Given the description of an element on the screen output the (x, y) to click on. 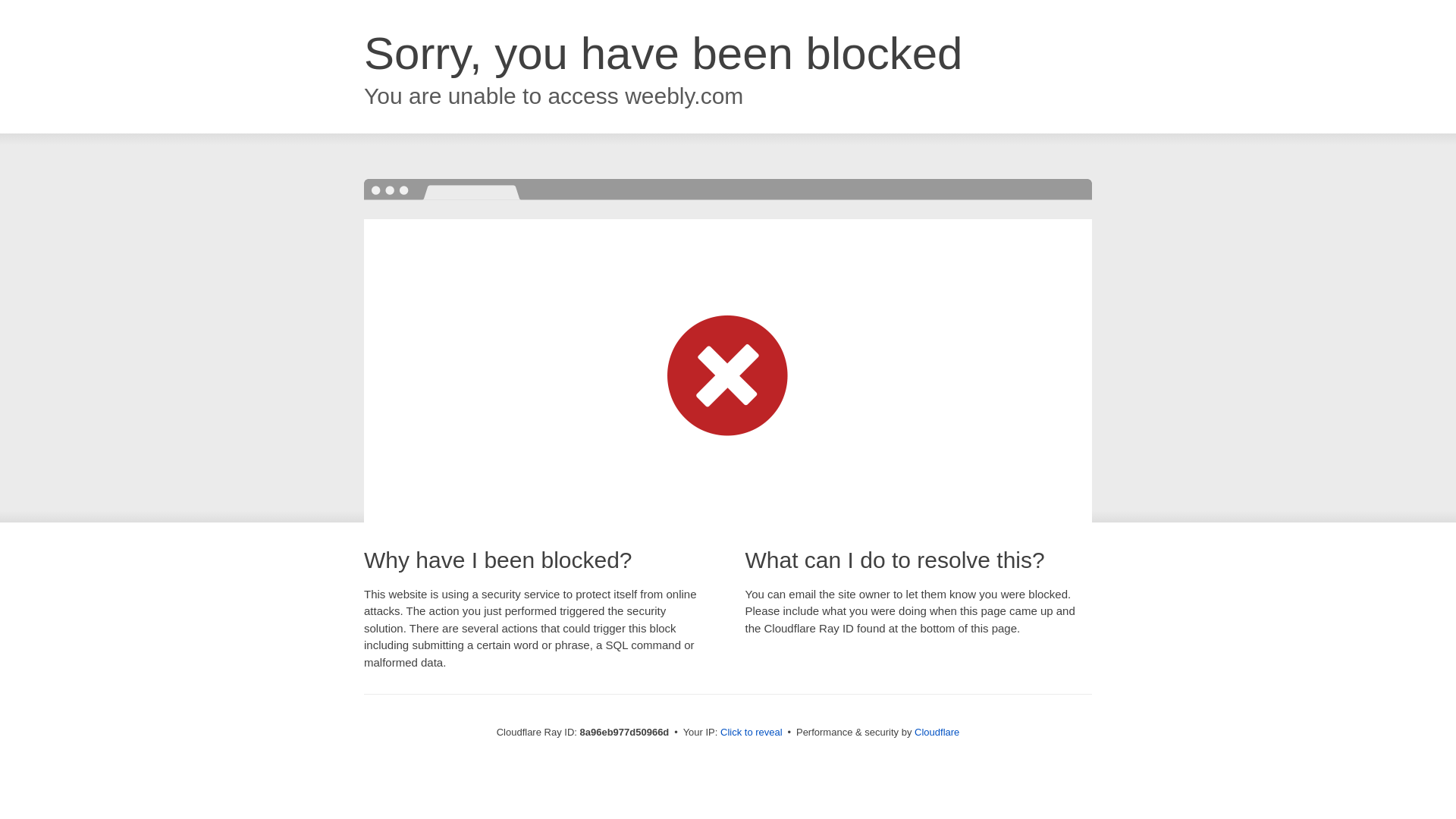
Cloudflare (936, 731)
Click to reveal (751, 732)
